Given the description of an element on the screen output the (x, y) to click on. 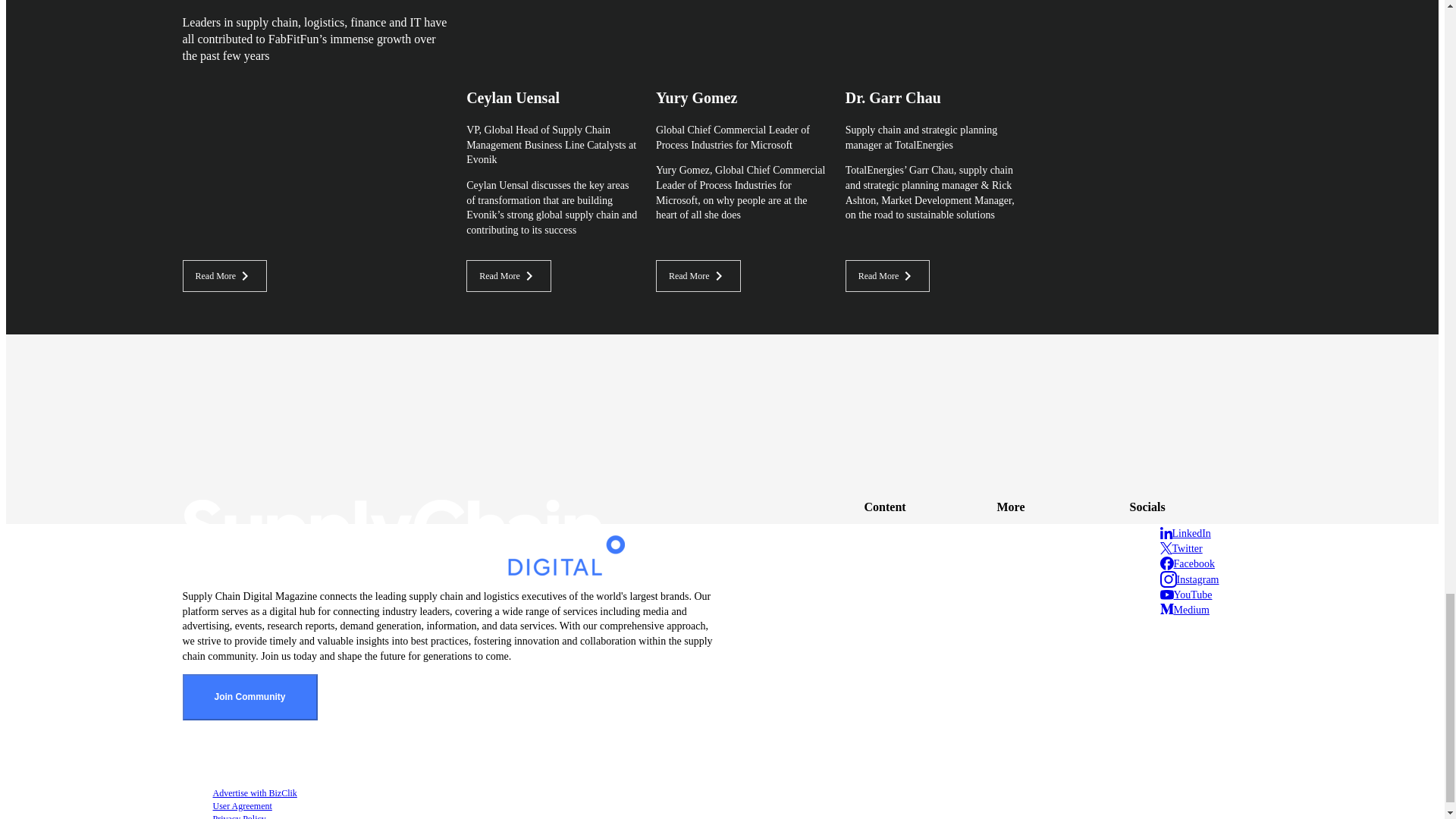
Facebook (1187, 562)
Twitter (1181, 547)
LinkedIn (1185, 532)
Join Community (249, 697)
